Given the description of an element on the screen output the (x, y) to click on. 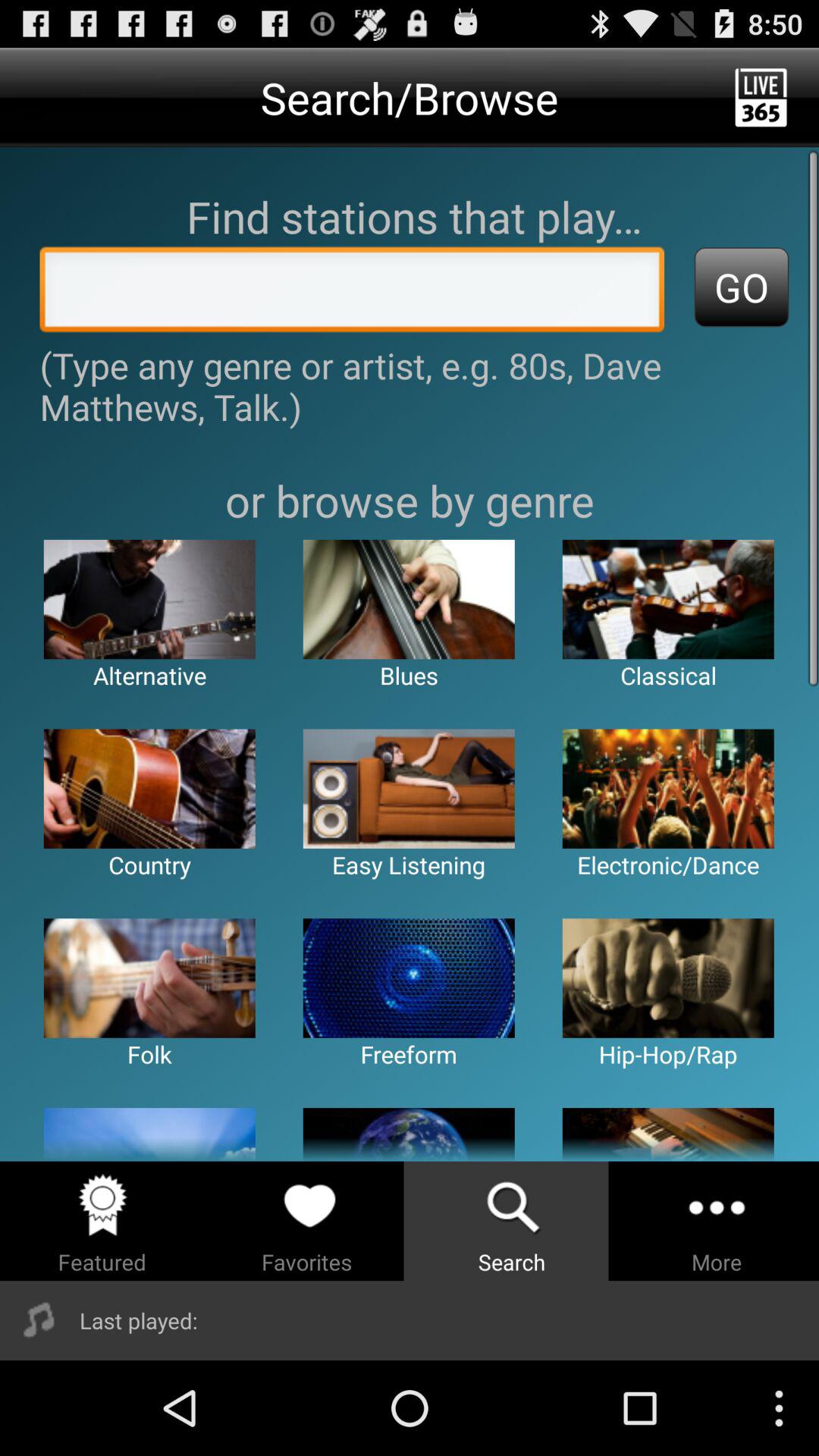
click on the image below blues (409, 788)
select the search option from the below (511, 1221)
click on the image which is beside freeform (667, 978)
select the music symbol present at the bottom left (39, 1320)
select the image at the bottom right corner (667, 1134)
